Given the description of an element on the screen output the (x, y) to click on. 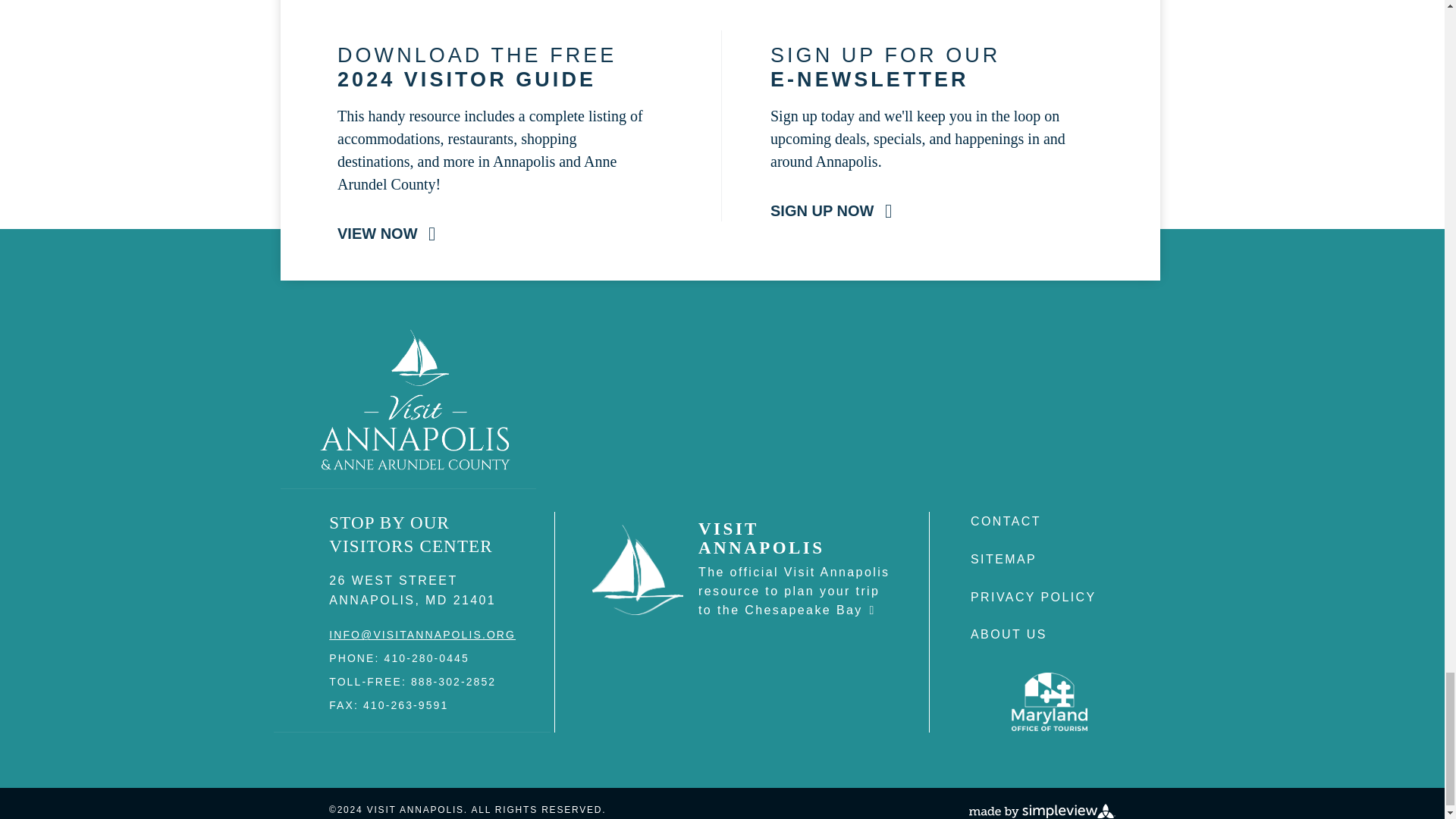
Contact (1006, 521)
About Us (1008, 634)
Sitemap (1003, 558)
Privacy Policy (1033, 596)
